Given the description of an element on the screen output the (x, y) to click on. 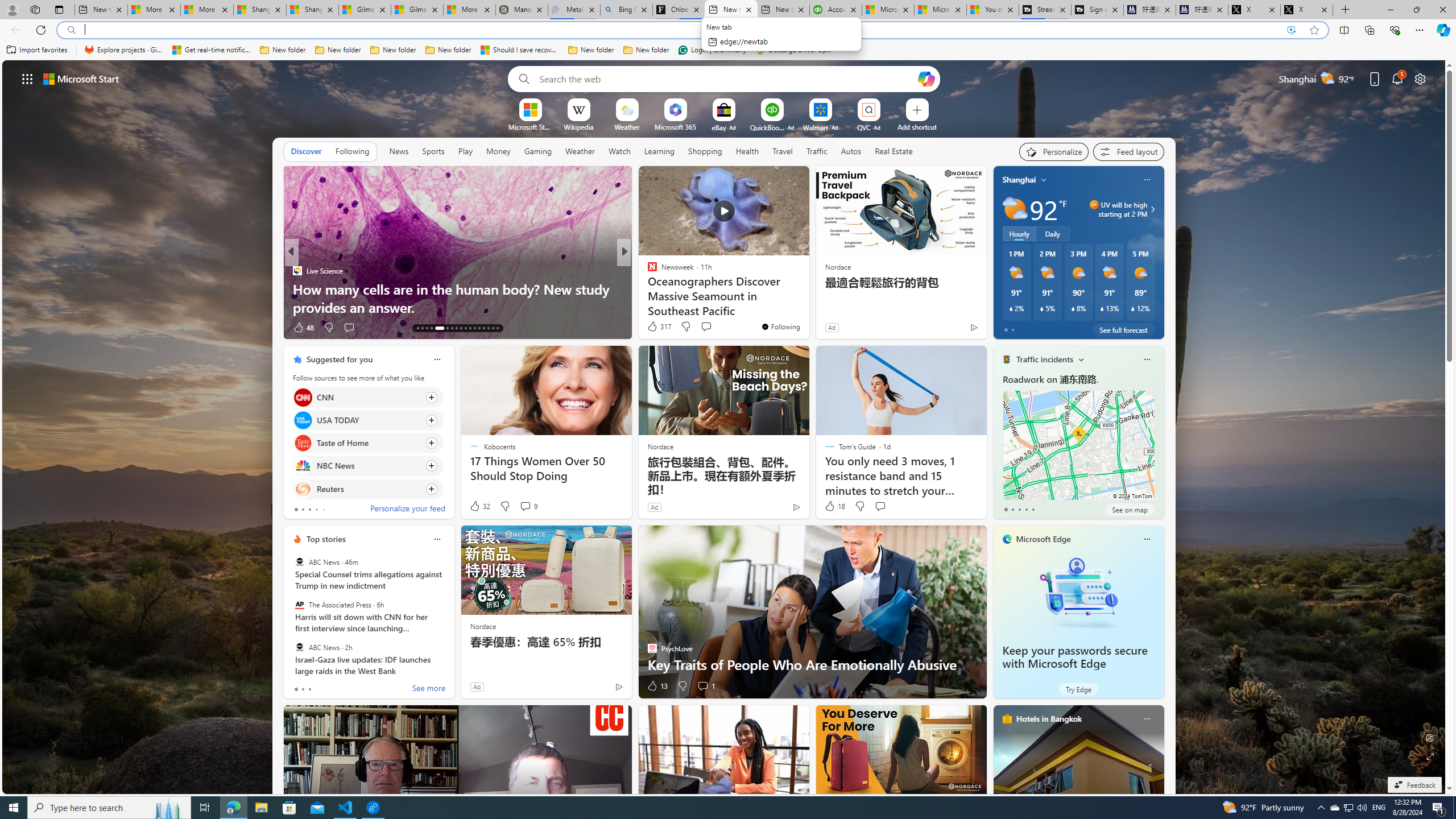
Add a site (916, 126)
Partly sunny (1014, 208)
5 Strength Workouts To Boost Your Muscular Endurance (807, 298)
Class: icon-img (1146, 718)
Keep your passwords secure with Microsoft Edge (1077, 592)
317 Like (658, 326)
View comments 49 Comment (707, 327)
AutomationID: tab-23 (470, 328)
tab-2 (309, 689)
Descarga Driver Updater (794, 49)
AutomationID: backgroundImagePicture (723, 426)
tab-1 (302, 689)
